Given the description of an element on the screen output the (x, y) to click on. 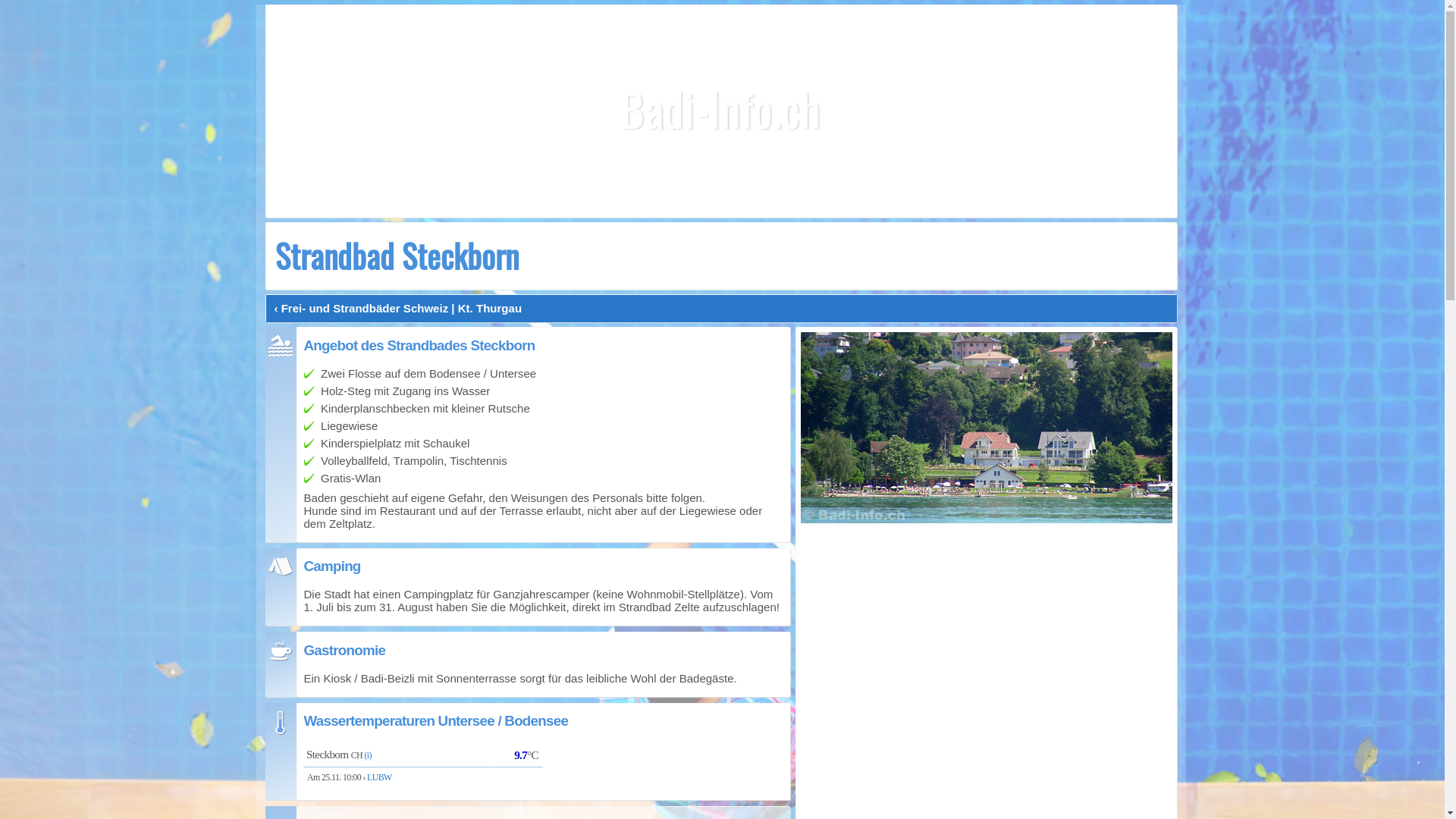
Advertisement Element type: hover (721, 111)
